Given the description of an element on the screen output the (x, y) to click on. 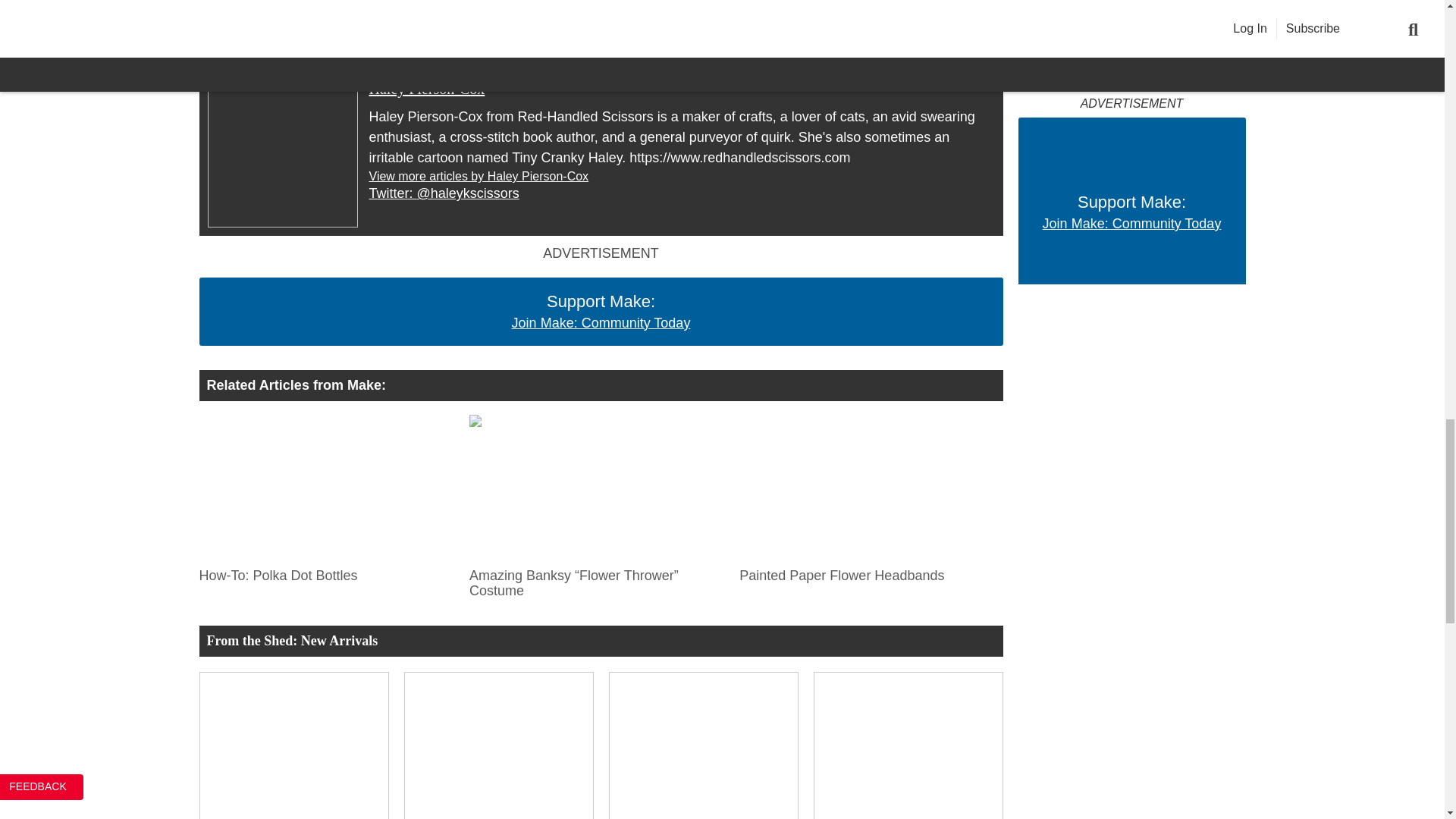
Painted Paper Flower Headbands (866, 572)
How-To: Polka Dot Bottles (325, 487)
How-To: Polka Dot Bottles (325, 572)
Painted Paper Flower Headbands (866, 487)
